Given the description of an element on the screen output the (x, y) to click on. 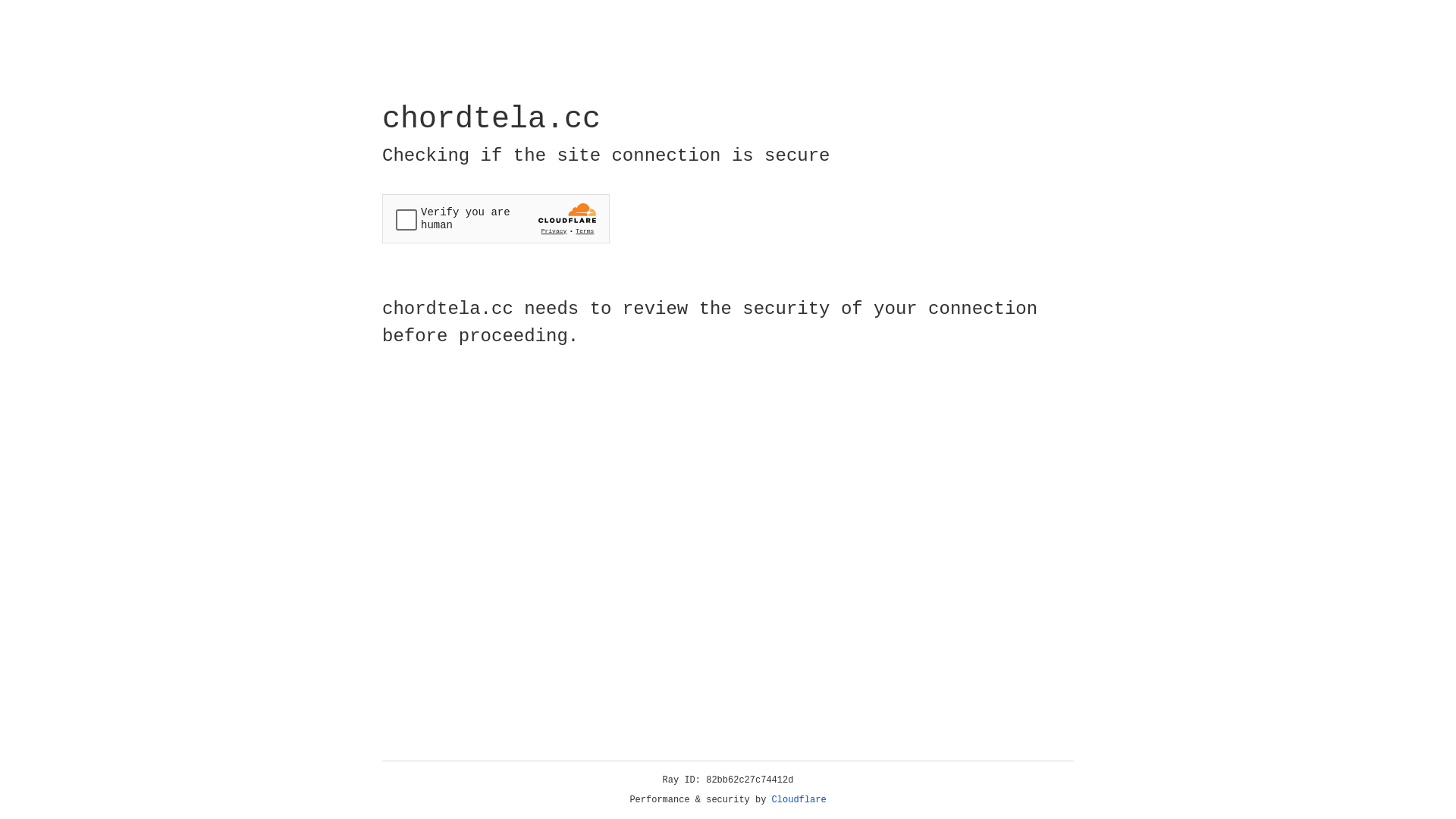
Widget containing a Cloudflare security challenge Element type: hover (495, 218)
Cloudflare Element type: text (798, 799)
